Given the description of an element on the screen output the (x, y) to click on. 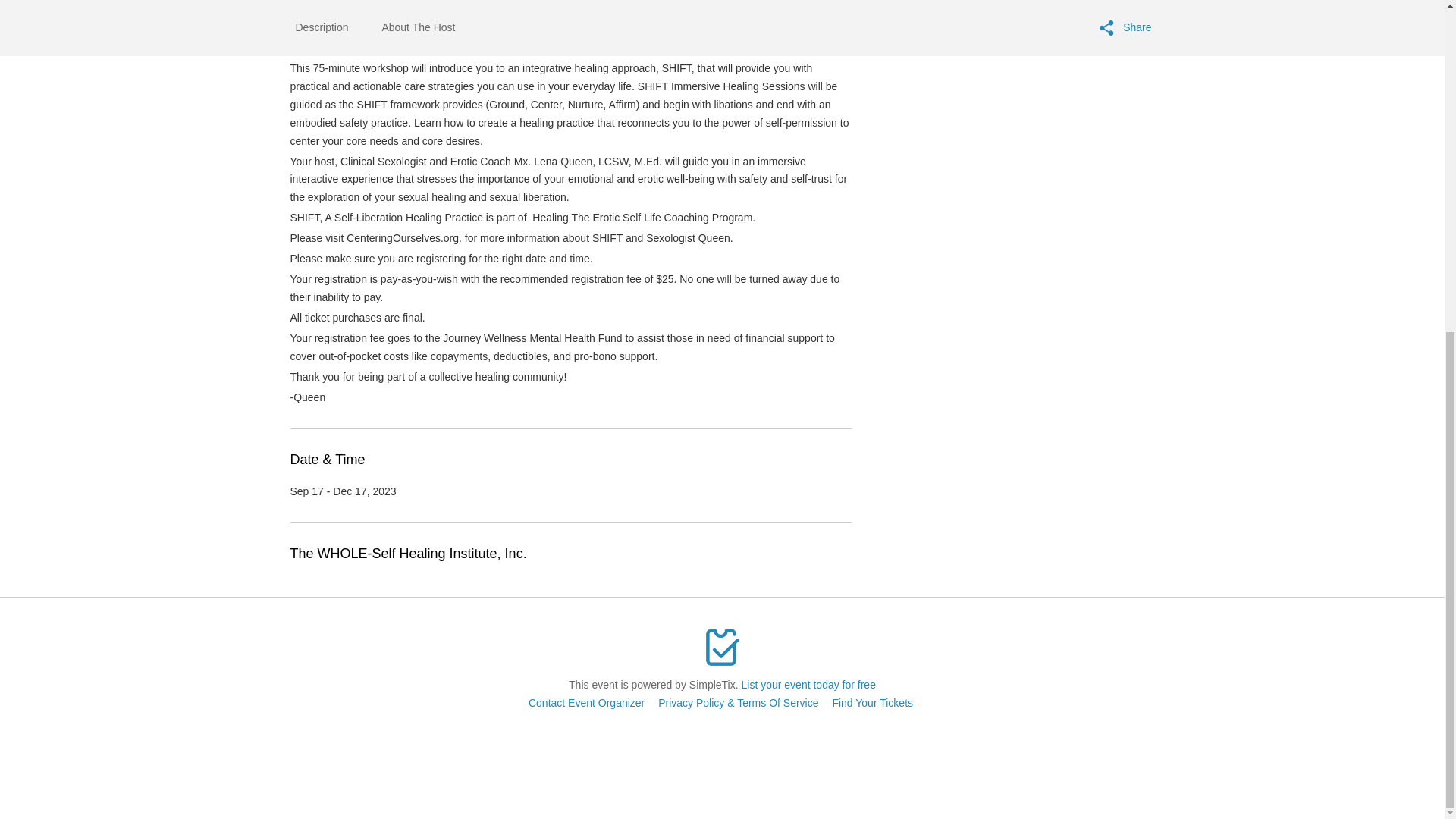
List your event today for free (808, 684)
Find Your Tickets (871, 702)
Find Your Tickets (871, 702)
List your event today for free (808, 684)
Contact Event Organizer (586, 702)
Contact Event Organizer (586, 702)
Powered by SimpleTix (721, 646)
